Given the description of an element on the screen output the (x, y) to click on. 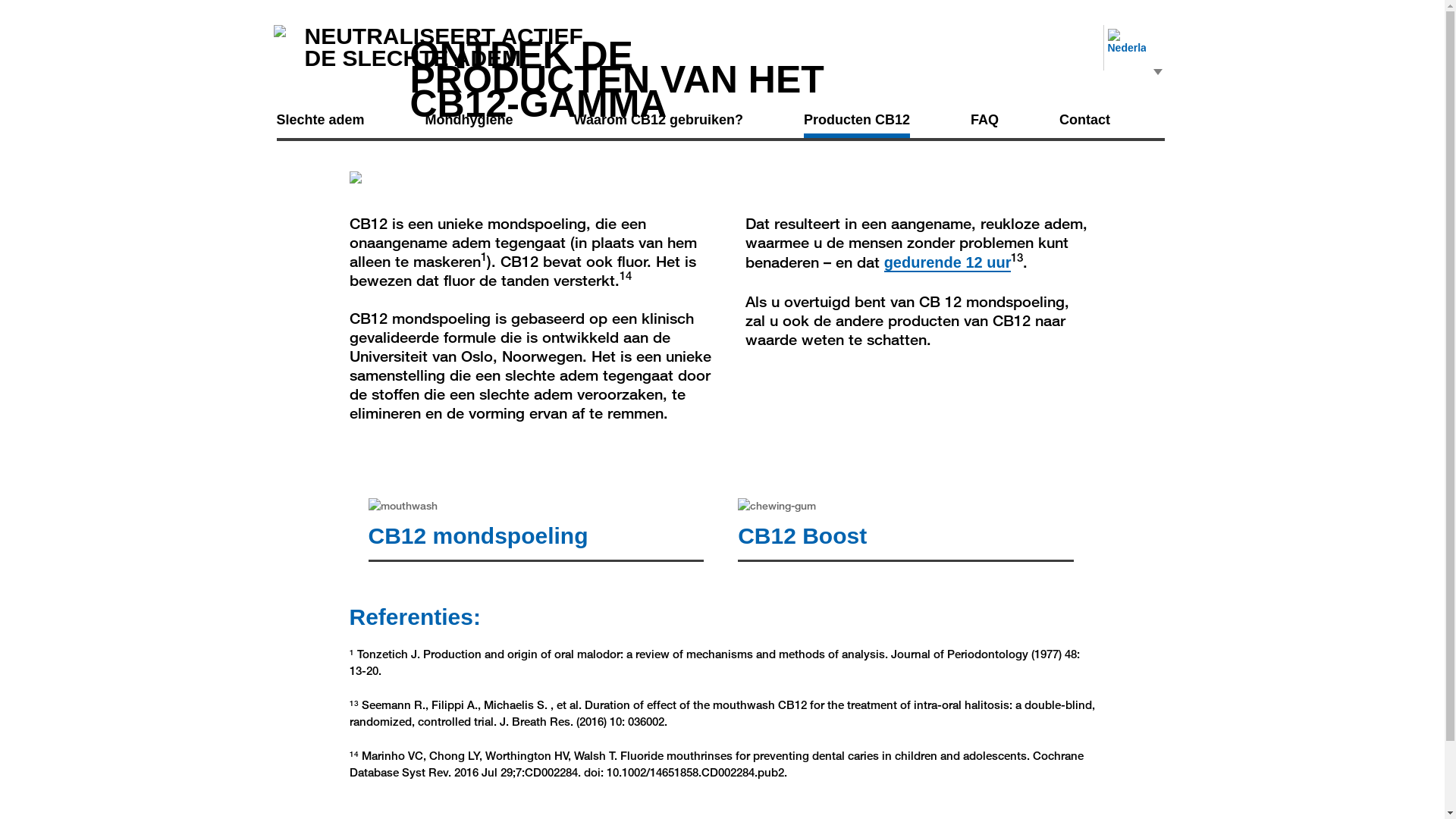
NEUTRALISEERT ACTIEF
DE SLECHTE ADEM Element type: text (443, 47)
gedurende 12 uur Element type: text (947, 263)
Contact Element type: text (1084, 119)
Producten CB12 Element type: text (856, 122)
Waarom CB12 gebruiken? Element type: text (658, 119)
FAQ Element type: text (984, 119)
CB12 mondspoeling Element type: text (478, 535)
CB12 Boost Element type: text (801, 535)
Slechte adem Element type: text (320, 119)
